Given the description of an element on the screen output the (x, y) to click on. 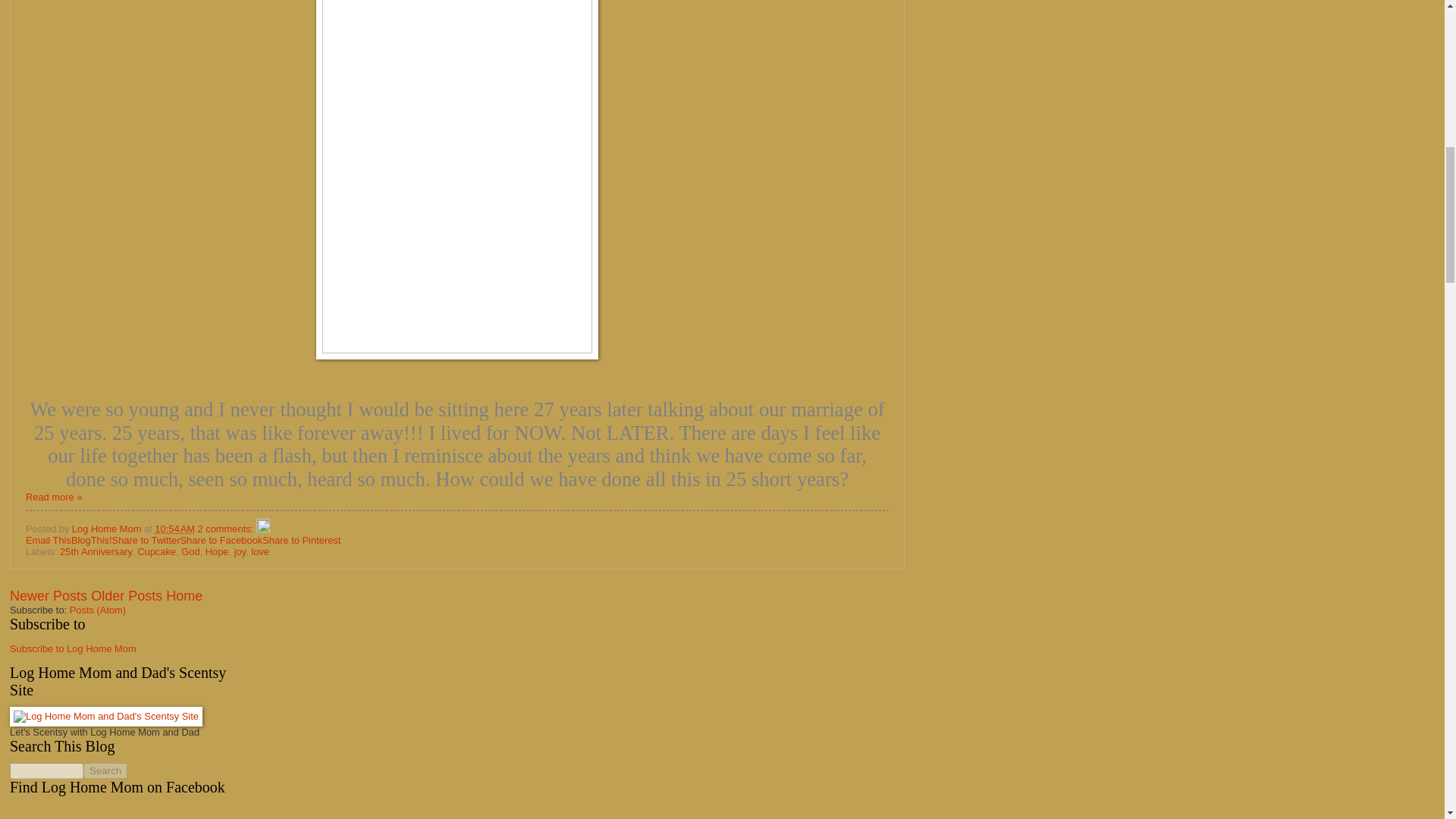
Newer Posts (48, 595)
Search (105, 770)
Older Posts (125, 595)
God (189, 551)
search (46, 770)
Share to Twitter (146, 540)
permanent link (174, 528)
Share to Facebook (220, 540)
Share to Pinterest (301, 540)
Subscribe to Log Home Mom (73, 648)
Email This (48, 540)
love (259, 551)
Hope (216, 551)
2 comments: (227, 528)
